Given the description of an element on the screen output the (x, y) to click on. 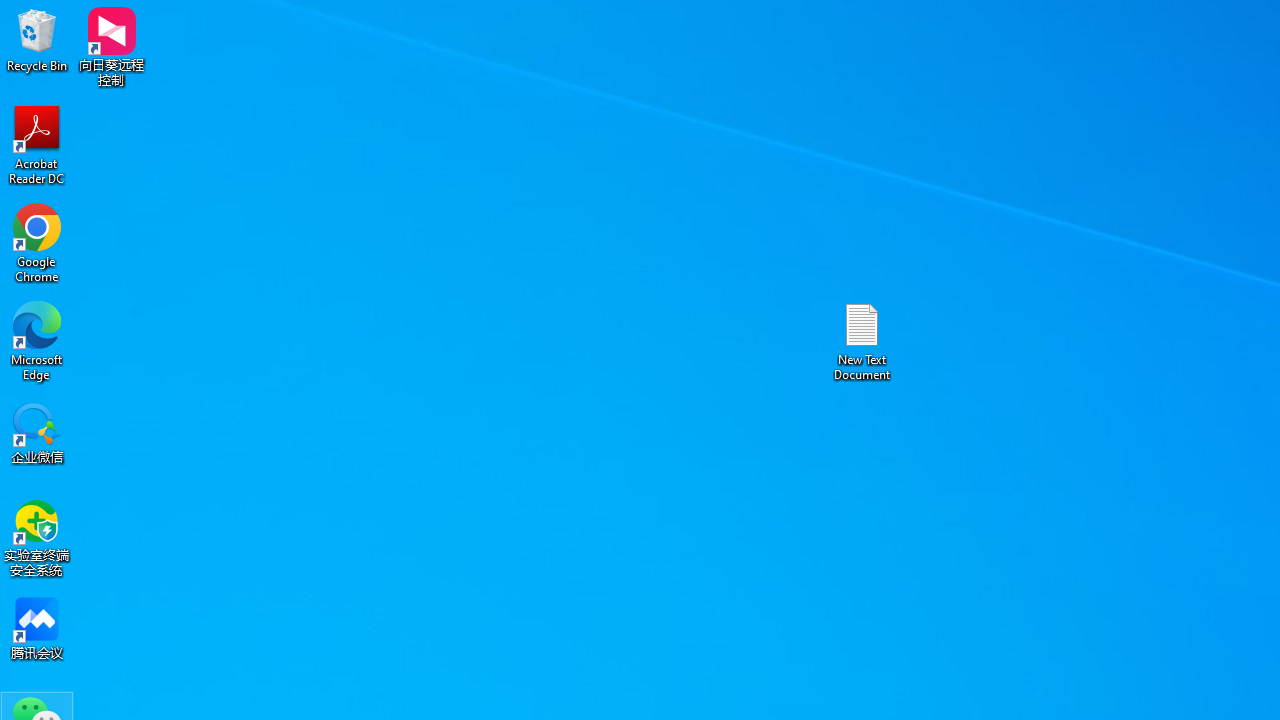
Google Chrome (37, 242)
Microsoft Edge (37, 340)
New Text Document (861, 340)
Acrobat Reader DC (37, 144)
Recycle Bin (37, 39)
